Given the description of an element on the screen output the (x, y) to click on. 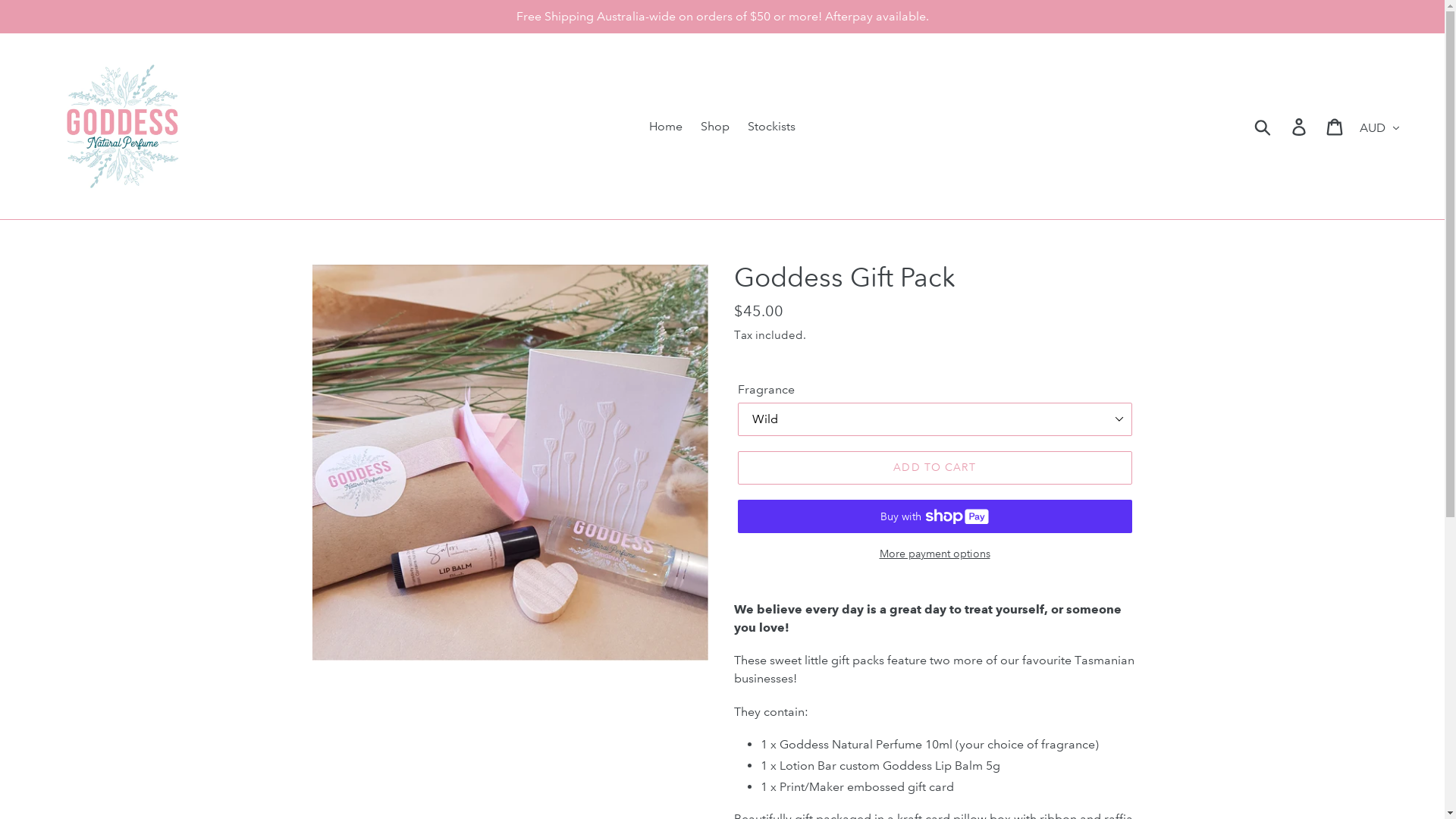
ADD TO CART Element type: text (934, 467)
Shop Element type: text (715, 126)
Home Element type: text (665, 126)
More payment options Element type: text (934, 553)
Cart Element type: text (1335, 126)
Stockists Element type: text (771, 126)
Log in Element type: text (1299, 126)
Submit Element type: text (1263, 125)
